Given the description of an element on the screen output the (x, y) to click on. 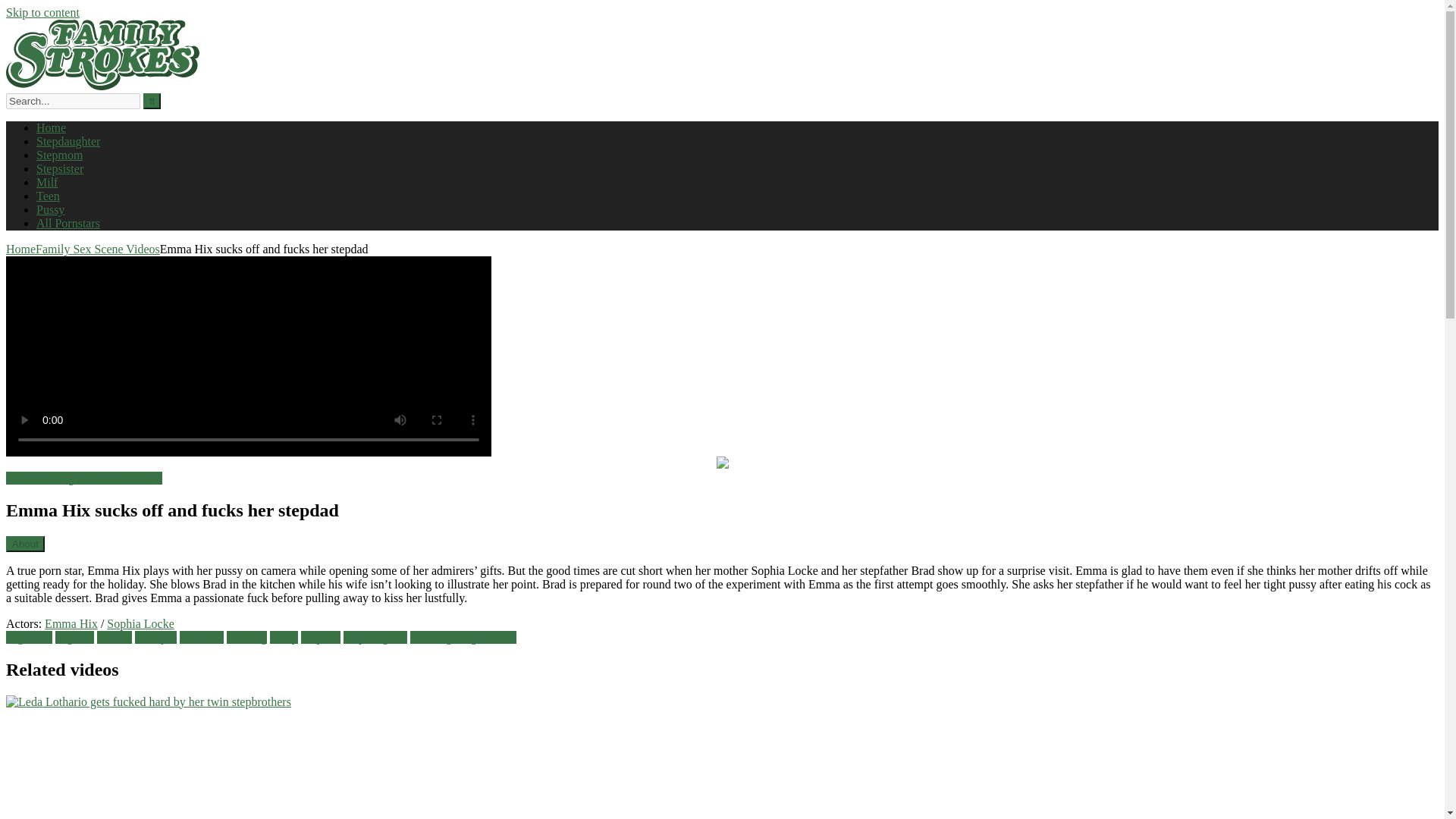
Sophia Locke (139, 623)
Sophia Locke (139, 623)
Stepdaughter (375, 636)
Stepdad (320, 636)
Cumshot (201, 636)
Blowjob (155, 636)
Teen (47, 195)
Emma Hix sucks off and fucks her stepdad (83, 477)
Home (50, 127)
Skip to content (42, 11)
